Given the description of an element on the screen output the (x, y) to click on. 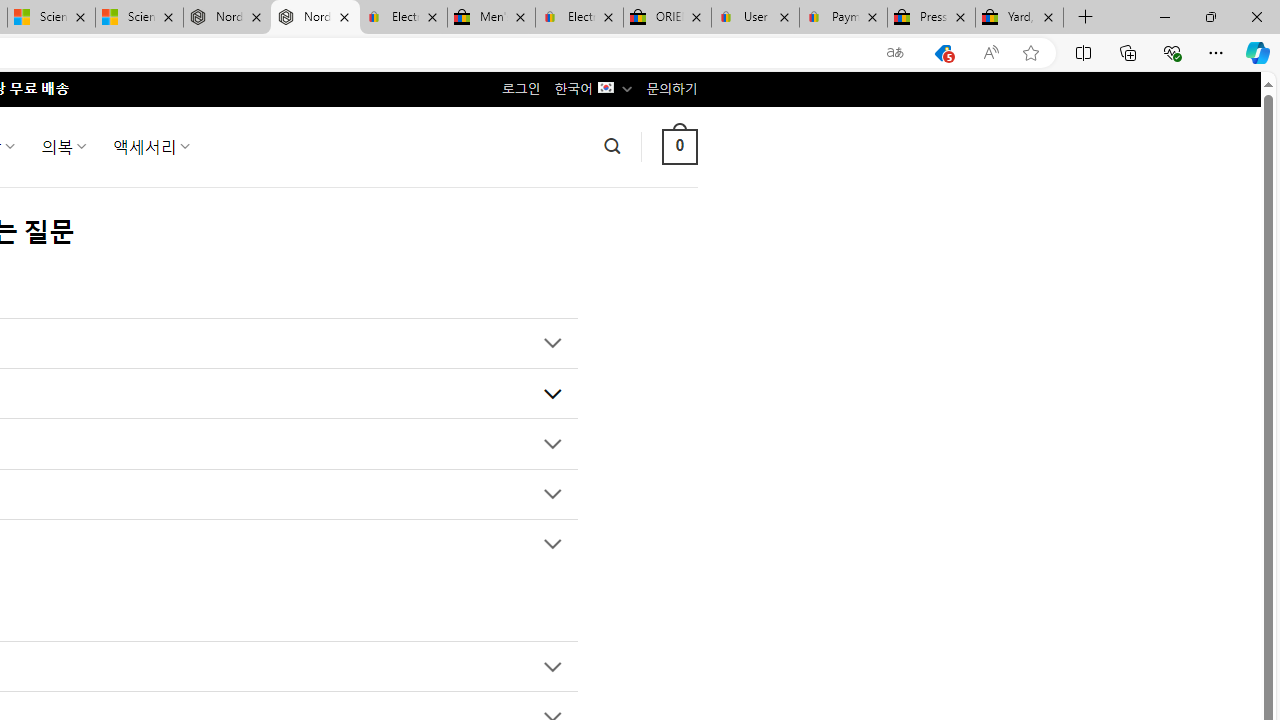
Nordace - FAQ (315, 17)
  0   (679, 146)
Yard, Garden & Outdoor Living (1019, 17)
Show translate options (895, 53)
